Given the description of an element on the screen output the (x, y) to click on. 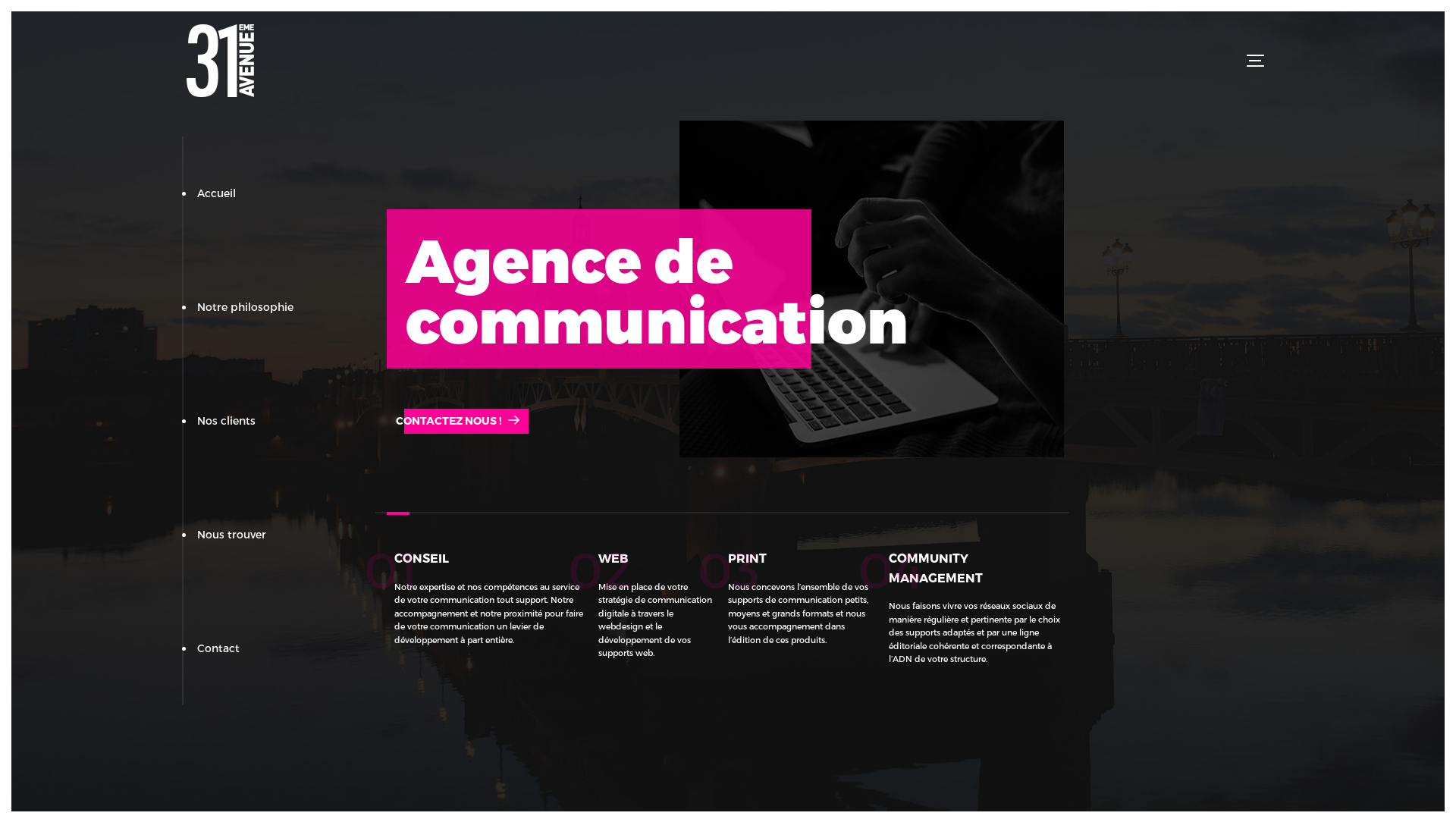
Nous trouver Element type: text (231, 533)
Notre philosophie Element type: text (245, 306)
CONTACTEZ NOUS ! Element type: text (457, 420)
Nos clients Element type: text (226, 420)
CONTACTEZ NOUS ! Element type: text (457, 420)
Contact Element type: text (218, 647)
Accueil Element type: text (216, 192)
